Given the description of an element on the screen output the (x, y) to click on. 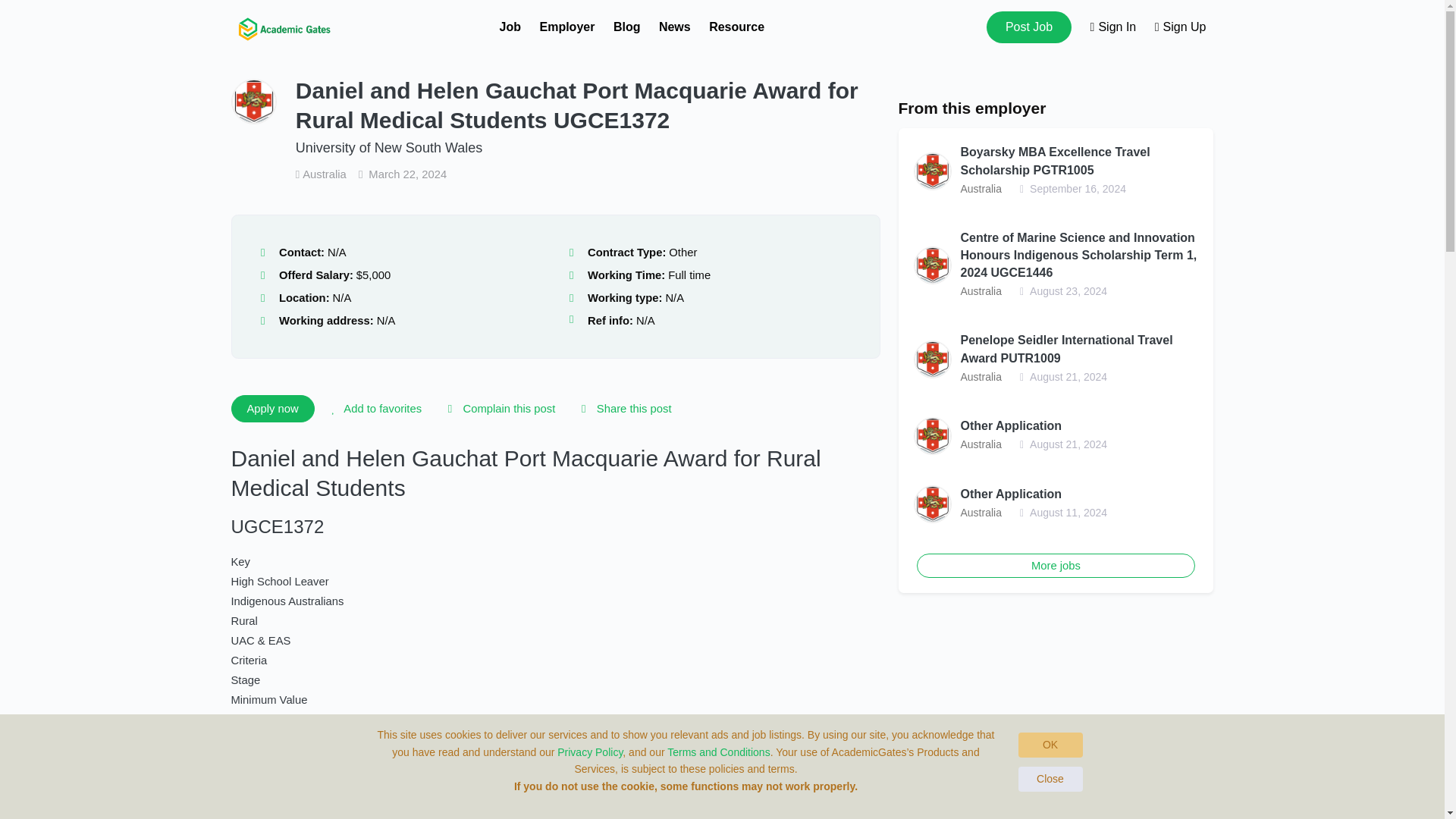
Share this post (623, 408)
Employer (567, 26)
Australia (322, 174)
Add to favorites (374, 408)
Resource (736, 26)
Blog (626, 26)
Advertisement (554, 813)
Sign In (1113, 26)
News (674, 26)
Advertisement (1055, 716)
